Given the description of an element on the screen output the (x, y) to click on. 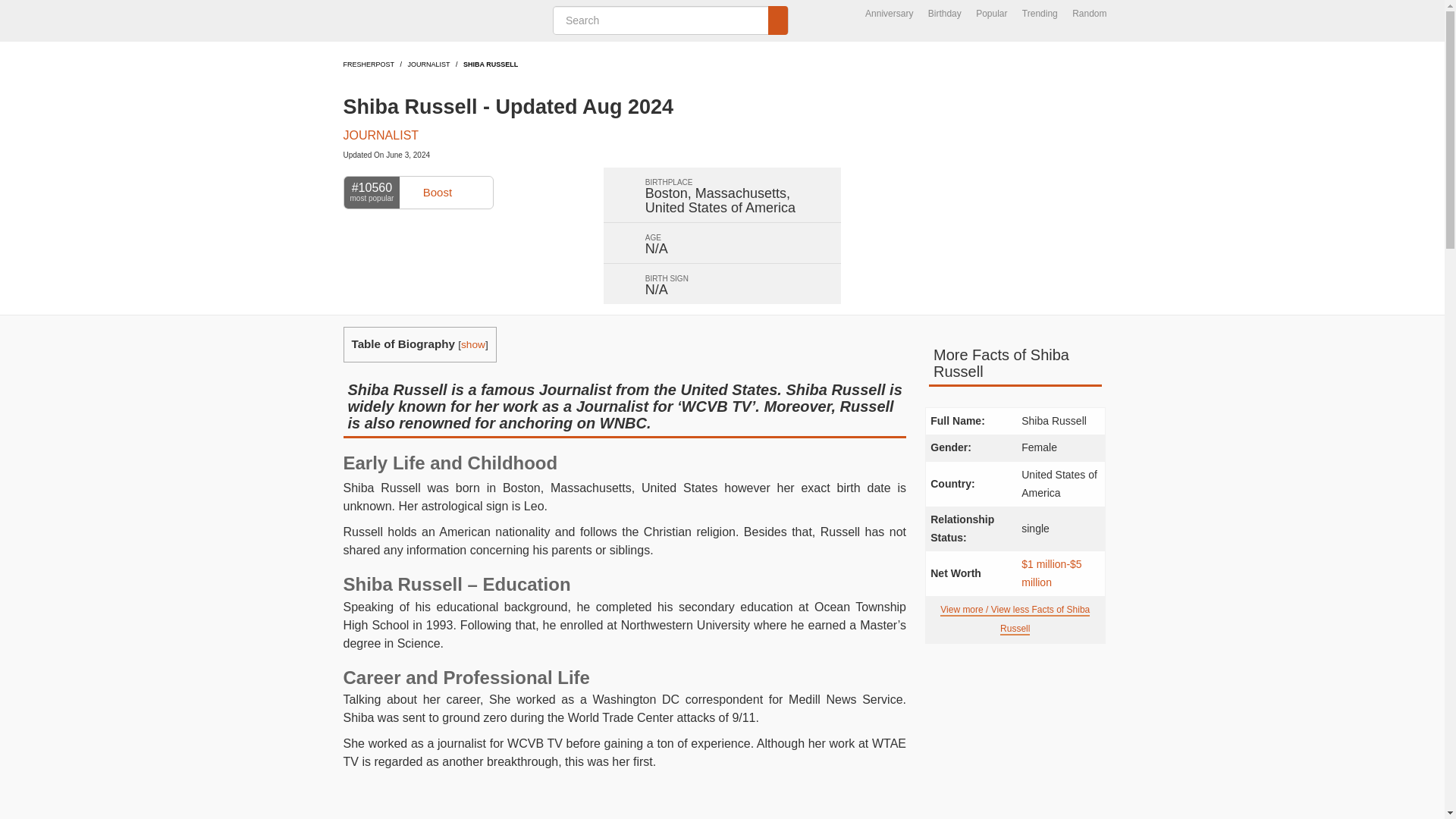
Trending (1040, 13)
show (472, 344)
JOURNALIST (428, 63)
Random (1088, 13)
Trending (1040, 13)
random (1088, 13)
Popular (991, 13)
Today Birthday (944, 13)
JOURNALIST (380, 134)
Fresher Post (438, 21)
